Given the description of an element on the screen output the (x, y) to click on. 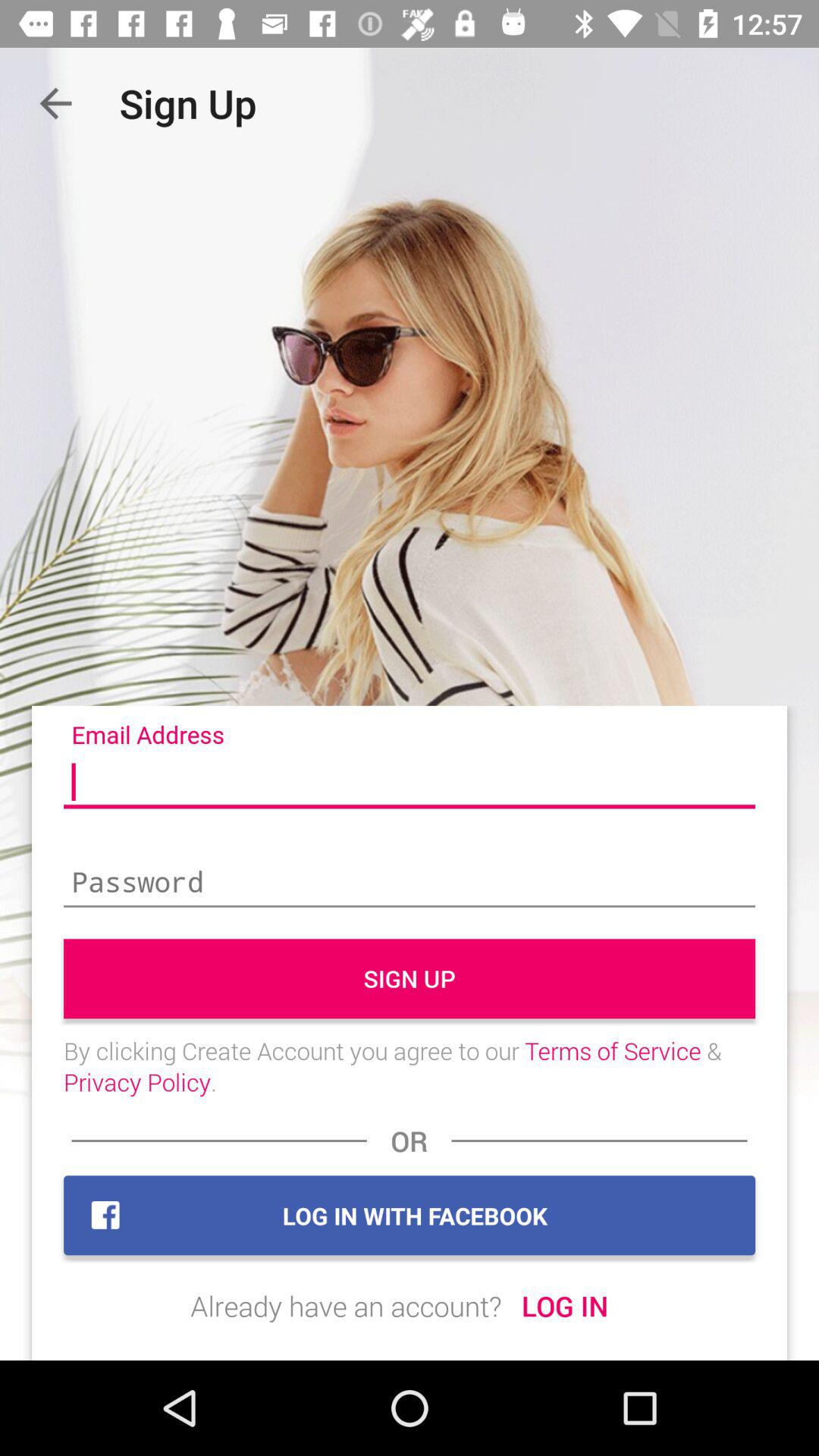
press by clicking create (409, 1066)
